Given the description of an element on the screen output the (x, y) to click on. 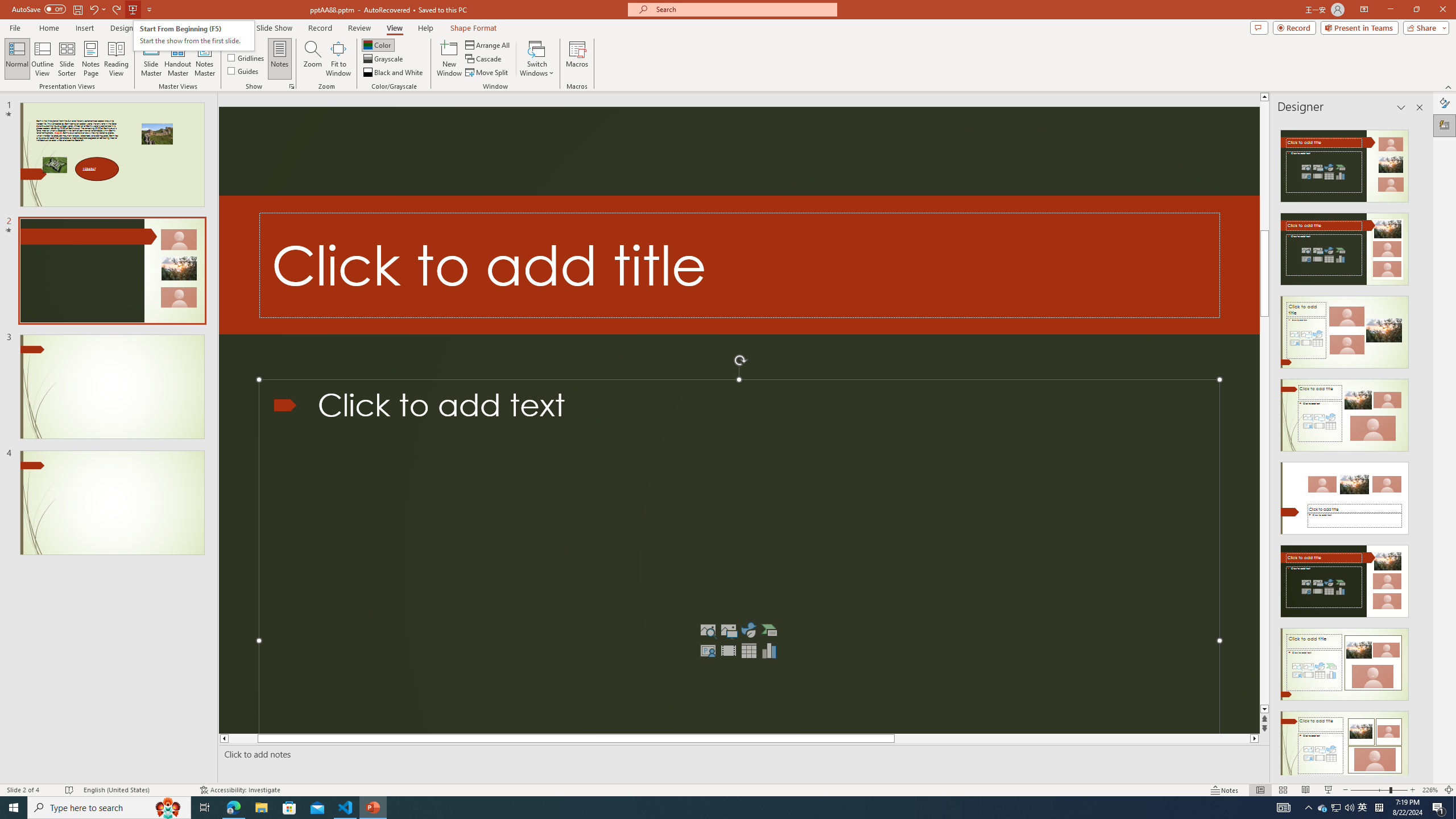
Notes (279, 58)
